Given the description of an element on the screen output the (x, y) to click on. 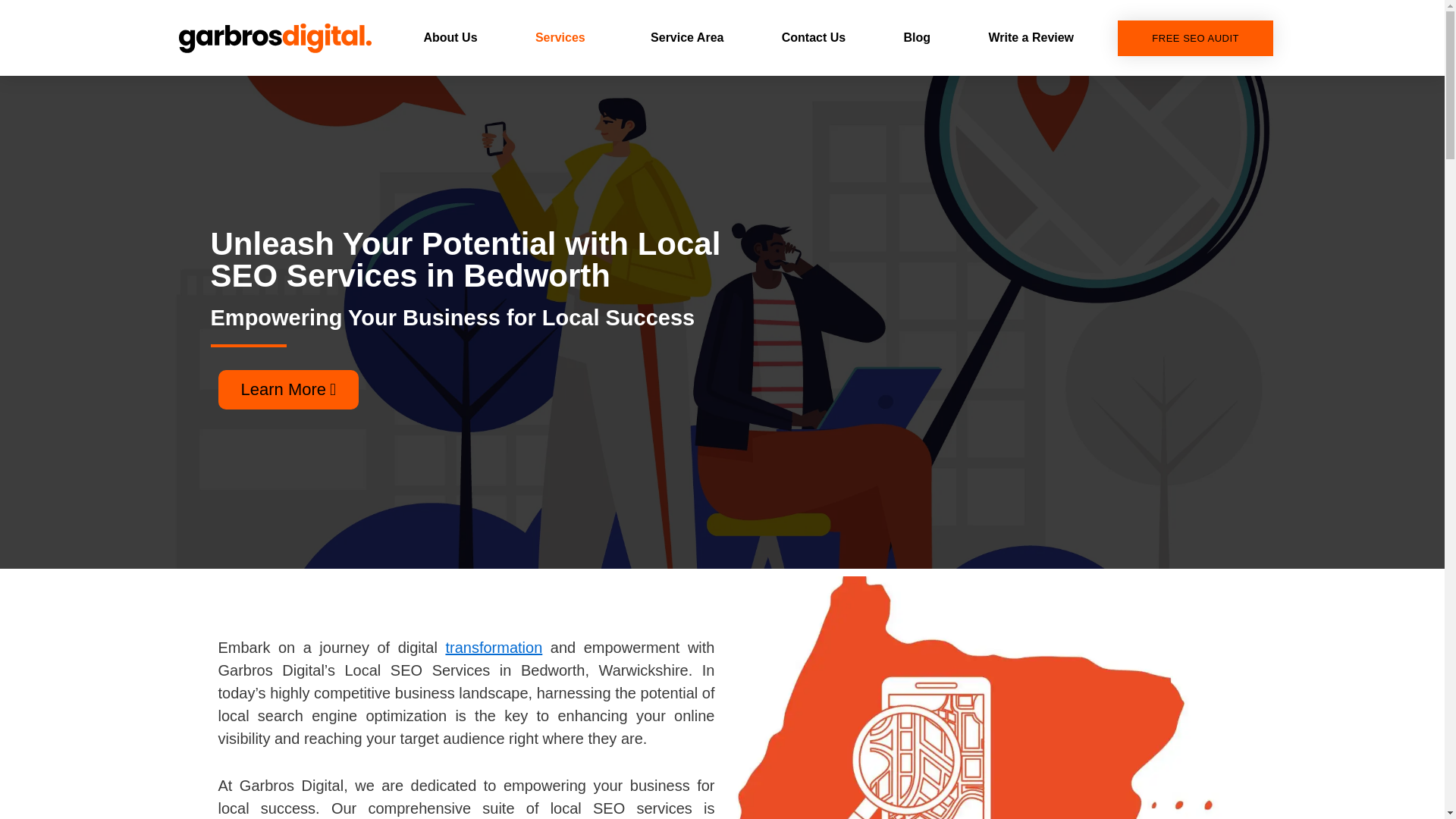
Services (563, 37)
Blog (917, 37)
Write a Review (1030, 37)
Contact Us (813, 37)
FREE SEO AUDIT (1195, 37)
Service Area (686, 37)
About Us (449, 37)
